Given the description of an element on the screen output the (x, y) to click on. 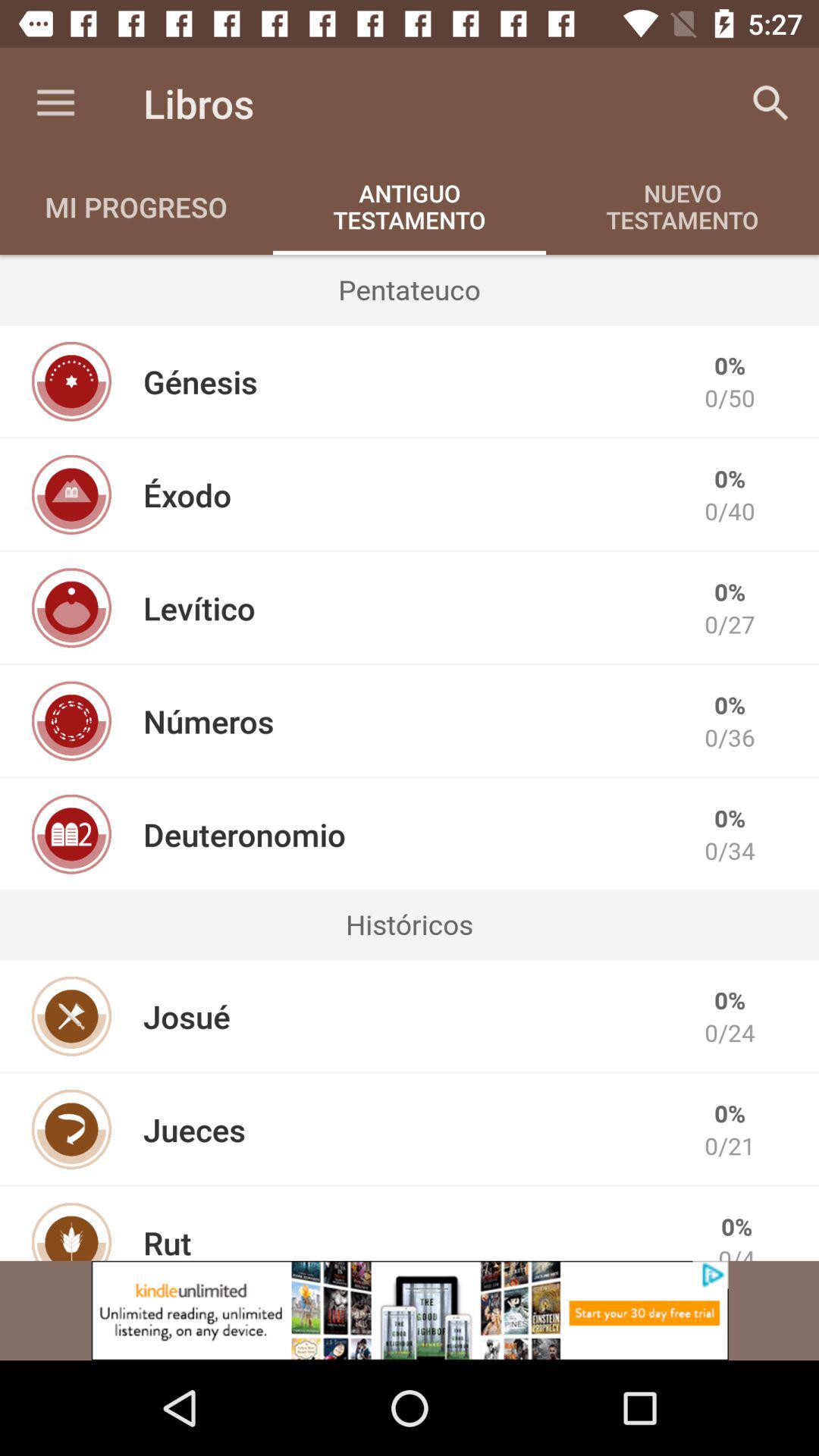
tap icon to the left of the 0/34 (244, 833)
